Given the description of an element on the screen output the (x, y) to click on. 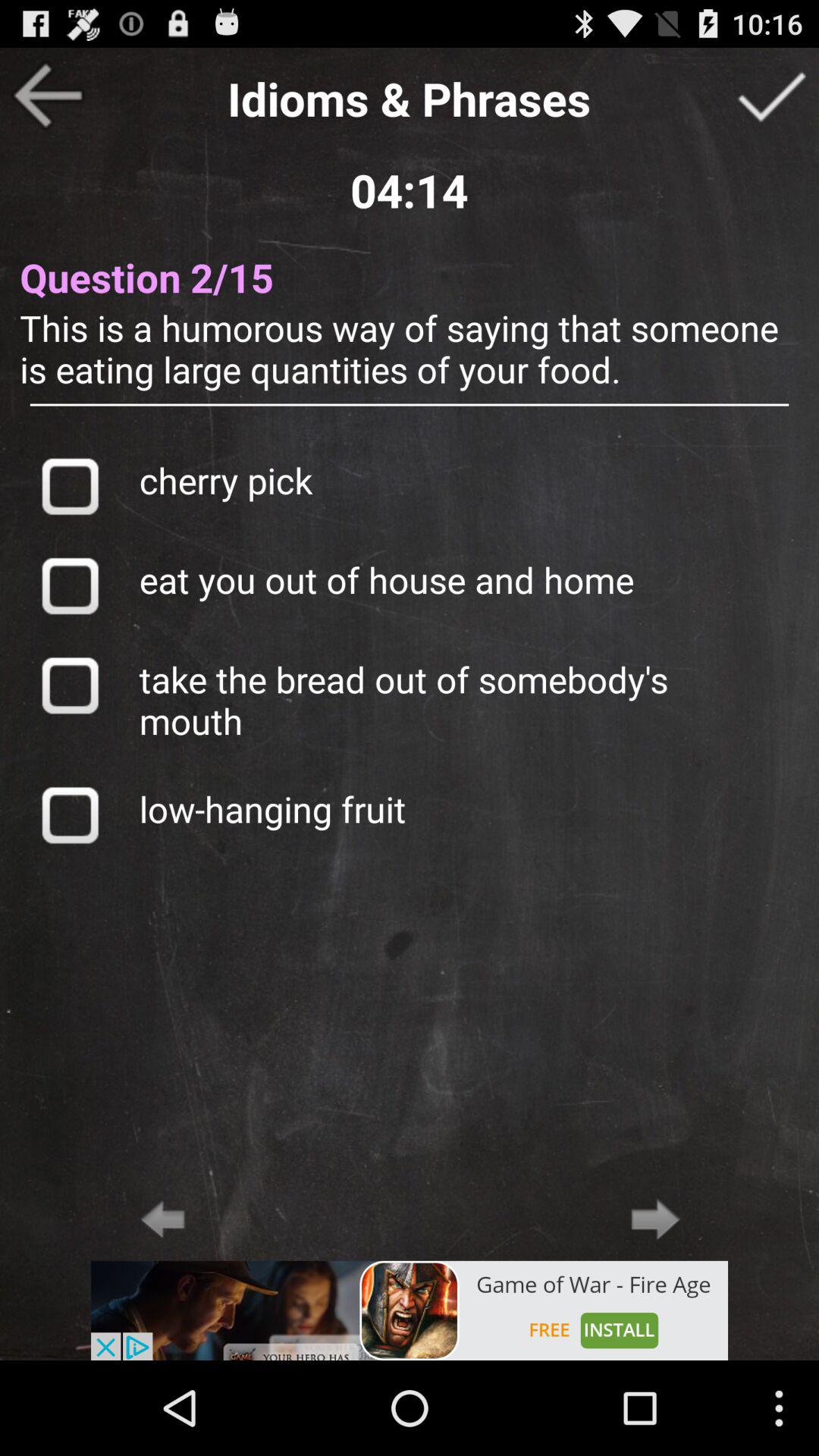
go back to previous question (47, 95)
